Given the description of an element on the screen output the (x, y) to click on. 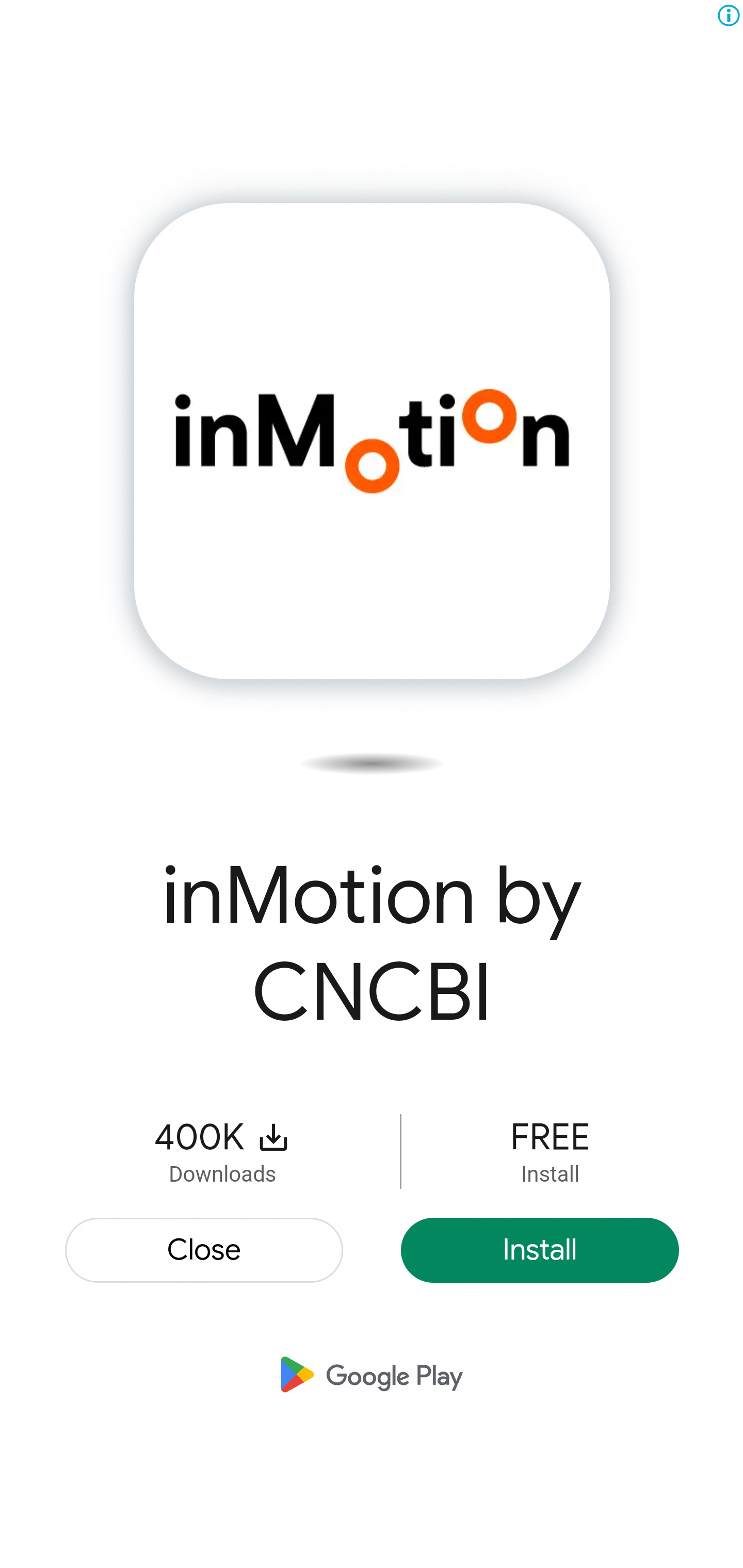
Close (204, 1249)
Install (539, 1249)
